Given the description of an element on the screen output the (x, y) to click on. 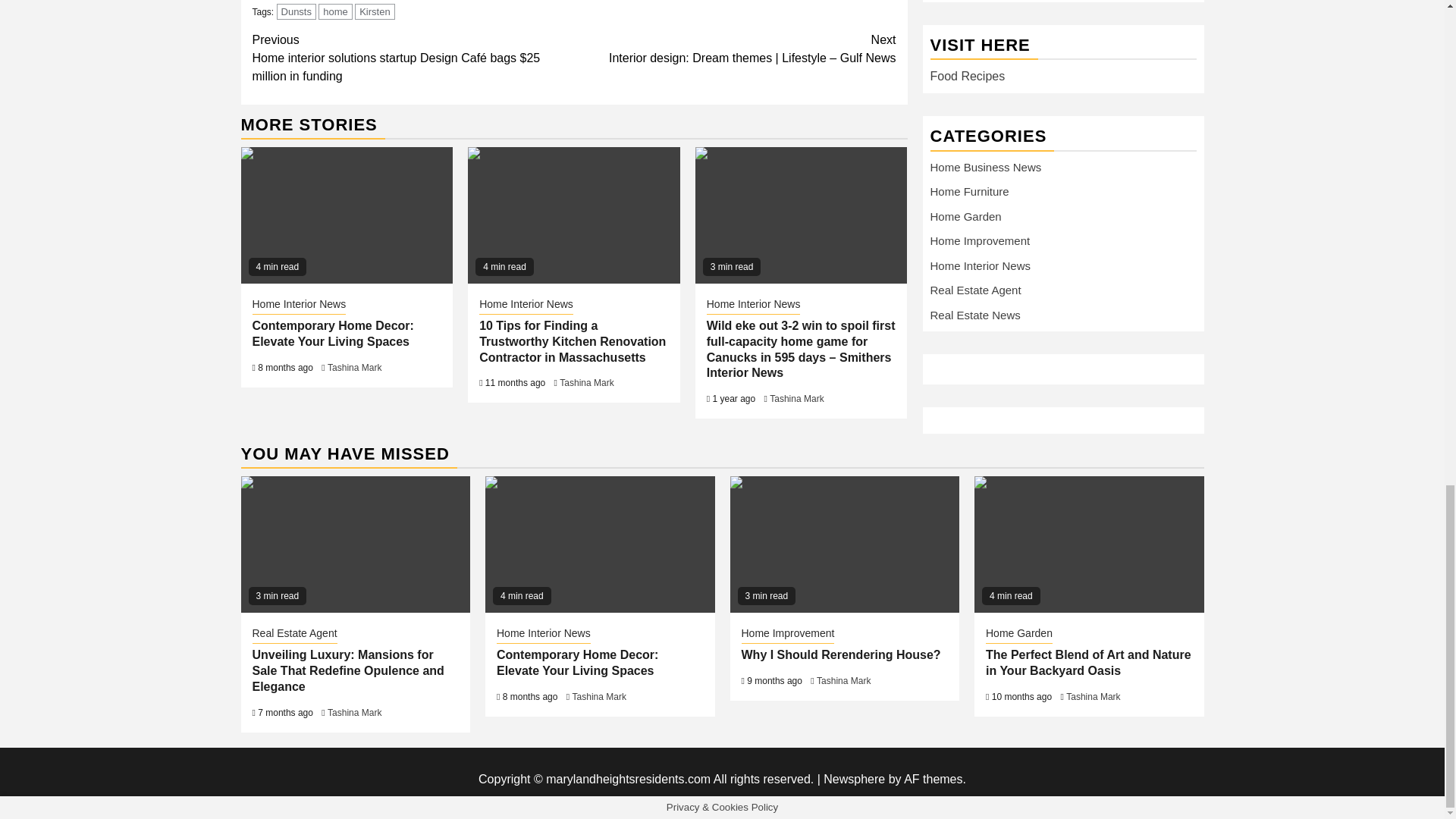
Why i should rerendering house? (844, 543)
Kirsten (374, 11)
Home Interior News (526, 305)
Contemporary Home Decor: Elevate Your Living Spaces (346, 215)
home (335, 11)
Tashina Mark (585, 382)
Tashina Mark (797, 398)
Contemporary Home Decor: Elevate Your Living Spaces (599, 543)
Dunsts (295, 11)
Tashina Mark (354, 367)
Home Interior News (298, 305)
Contemporary Home Decor: Elevate Your Living Spaces (332, 333)
